Given the description of an element on the screen output the (x, y) to click on. 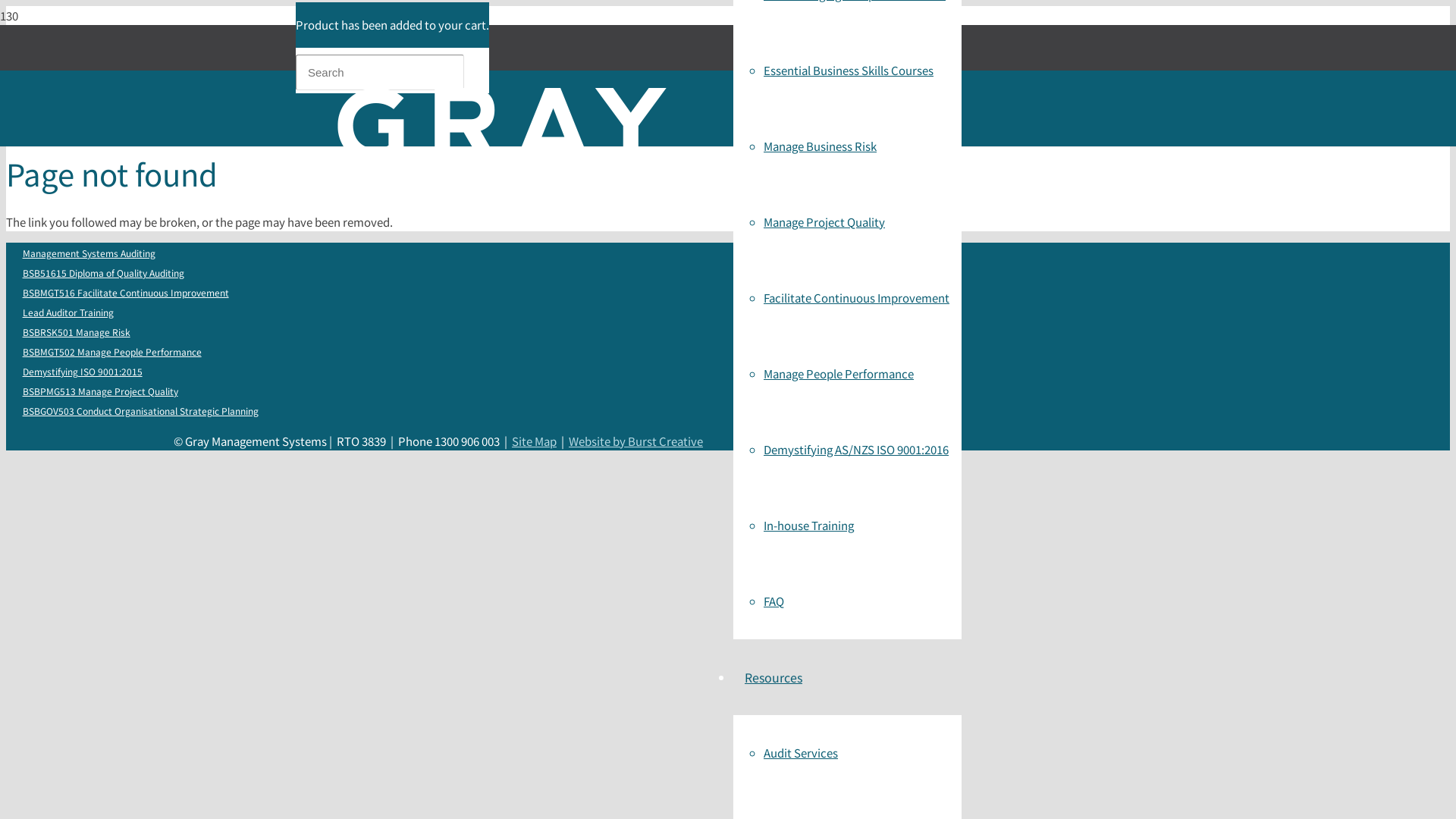
BSBRSK501 Manage Risk Element type: text (76, 331)
Site Map Element type: text (533, 440)
Demystifying ISO 9001:2015 Element type: text (82, 370)
Essential Business Skills Courses Element type: text (848, 70)
BSBMGT516 Facilitate Continuous Improvement Element type: text (125, 291)
Manage People Performance Element type: text (838, 373)
Resources Element type: text (773, 677)
Audit Services Element type: text (800, 752)
FAQ Element type: text (773, 600)
BSBGOV503 Conduct Organisational Strategic Planning Element type: text (140, 409)
Management Systems Auditing Element type: text (88, 252)
Demystifying AS/NZS ISO 9001:2016 Element type: text (855, 449)
BSBMGT502 Manage People Performance Element type: text (111, 350)
In-house Training Element type: text (808, 525)
Lead Auditor Training Element type: text (67, 311)
Manage Business Risk Element type: text (819, 145)
Website by Burst Creative Element type: text (635, 440)
BSBPMG513 Manage Project Quality Element type: text (100, 390)
Facilitate Continuous Improvement Element type: text (856, 297)
BSB51615 Diploma of Quality Auditing Element type: text (103, 271)
Manage Project Quality Element type: text (823, 221)
